Given the description of an element on the screen output the (x, y) to click on. 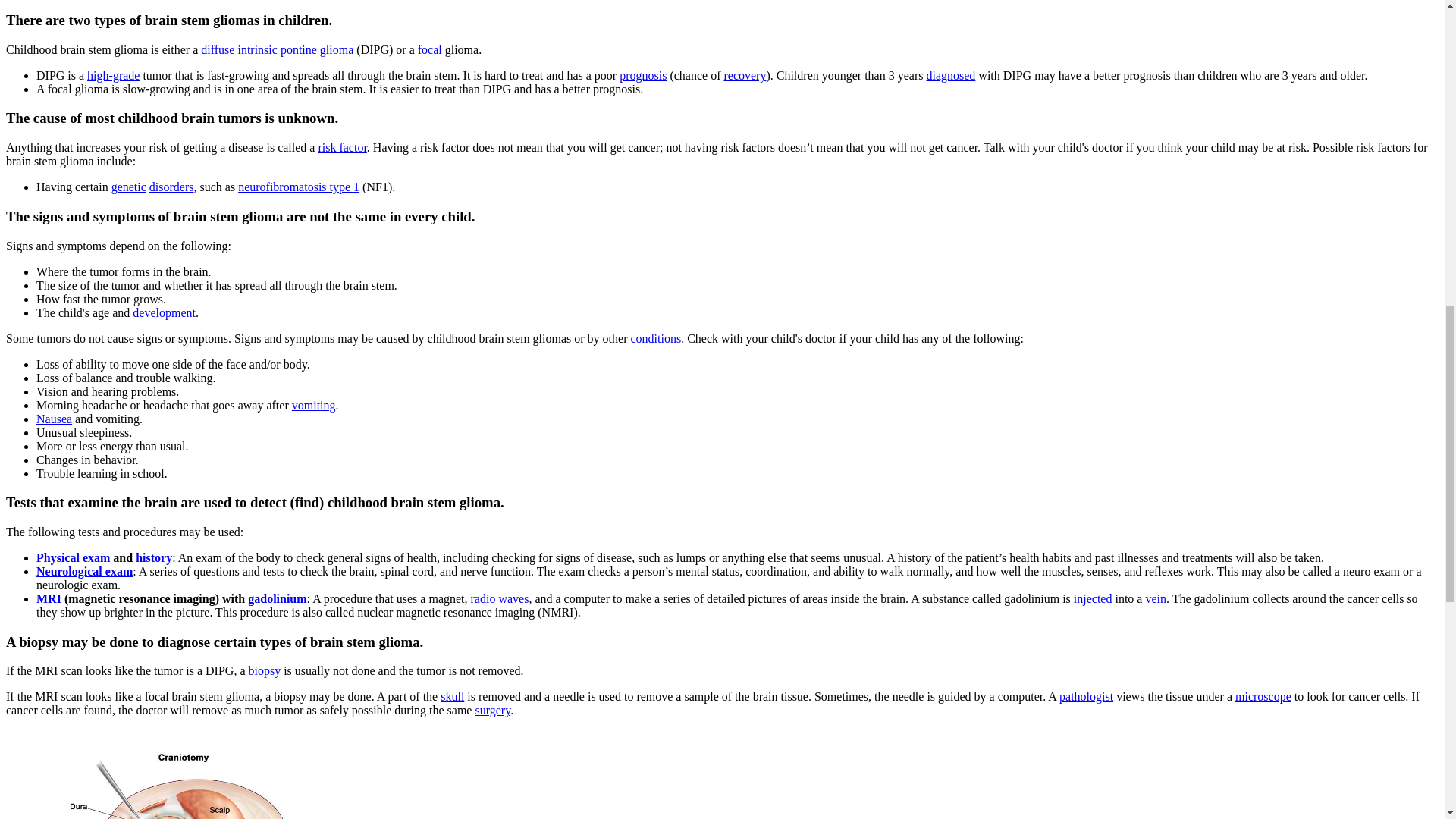
disorders (171, 186)
diffuse intrinsic pontine glioma (276, 49)
prognosis (643, 74)
high-grade (113, 74)
focal (429, 49)
risk factor (341, 146)
development (163, 312)
genetic (129, 186)
neurofibromatosis type 1 (298, 186)
recovery (744, 74)
diagnosed (950, 74)
